Given the description of an element on the screen output the (x, y) to click on. 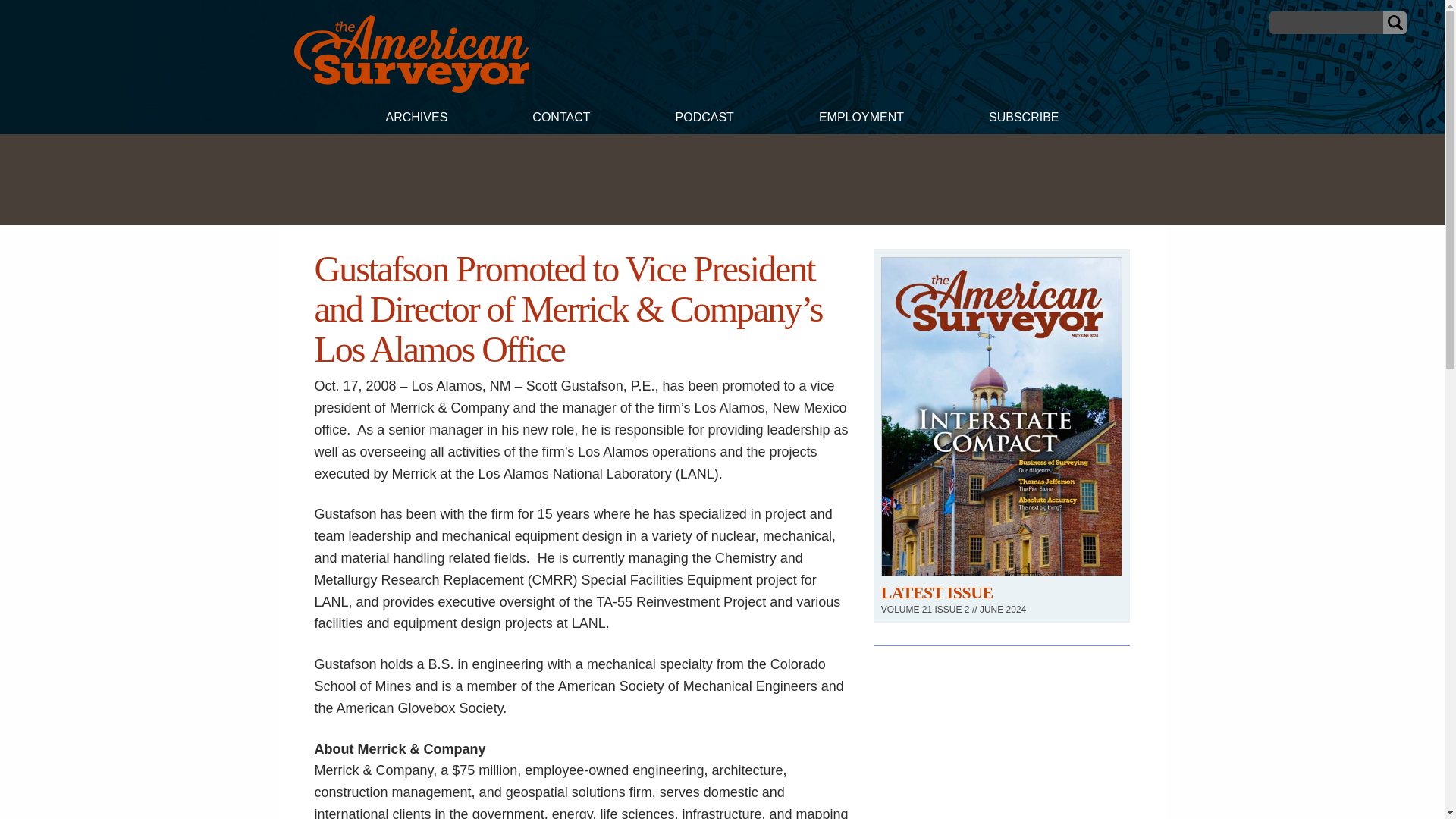
PODCAST (704, 119)
EMPLOYMENT (861, 119)
CONTACT (560, 119)
Search for: (1326, 22)
Submit (1394, 22)
The American Surveyor (411, 88)
3rd party ad content (721, 179)
SUBSCRIBE (1024, 119)
Submit (1394, 22)
The American Surveyor (411, 53)
